Given the description of an element on the screen output the (x, y) to click on. 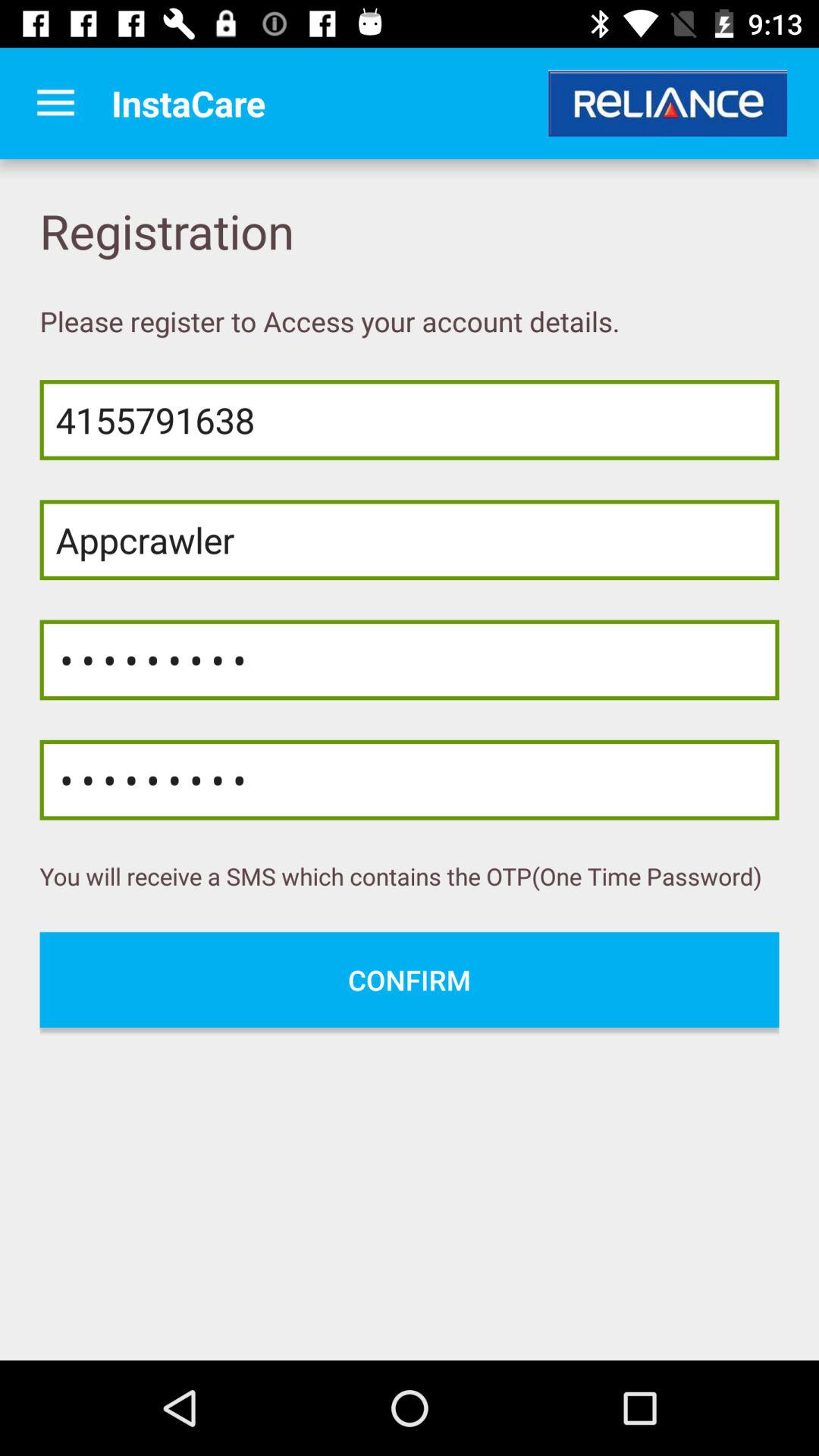
swipe until appcrawler (409, 539)
